Given the description of an element on the screen output the (x, y) to click on. 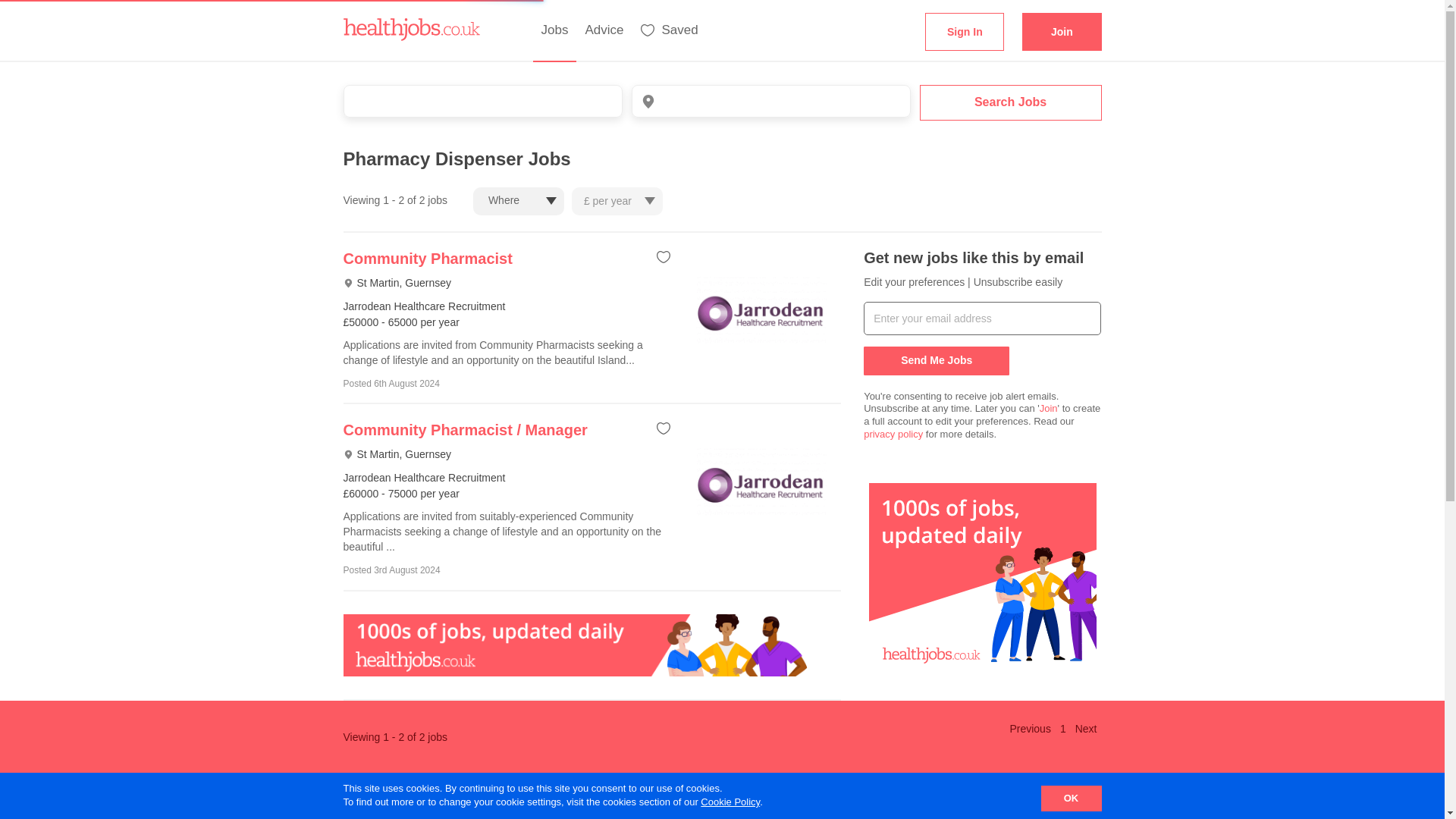
Saved (668, 31)
Sign In (964, 31)
Community Pharmacist (427, 258)
HealthJobs Ltd (410, 21)
Join (1061, 31)
Search Jobs (1009, 102)
Find out more about Jarrodean Healthcare Recruitment jobs (464, 429)
Advice (603, 31)
Join (1048, 408)
Find out more about Jarrodean Healthcare Recruitment jobs (427, 258)
